Given the description of an element on the screen output the (x, y) to click on. 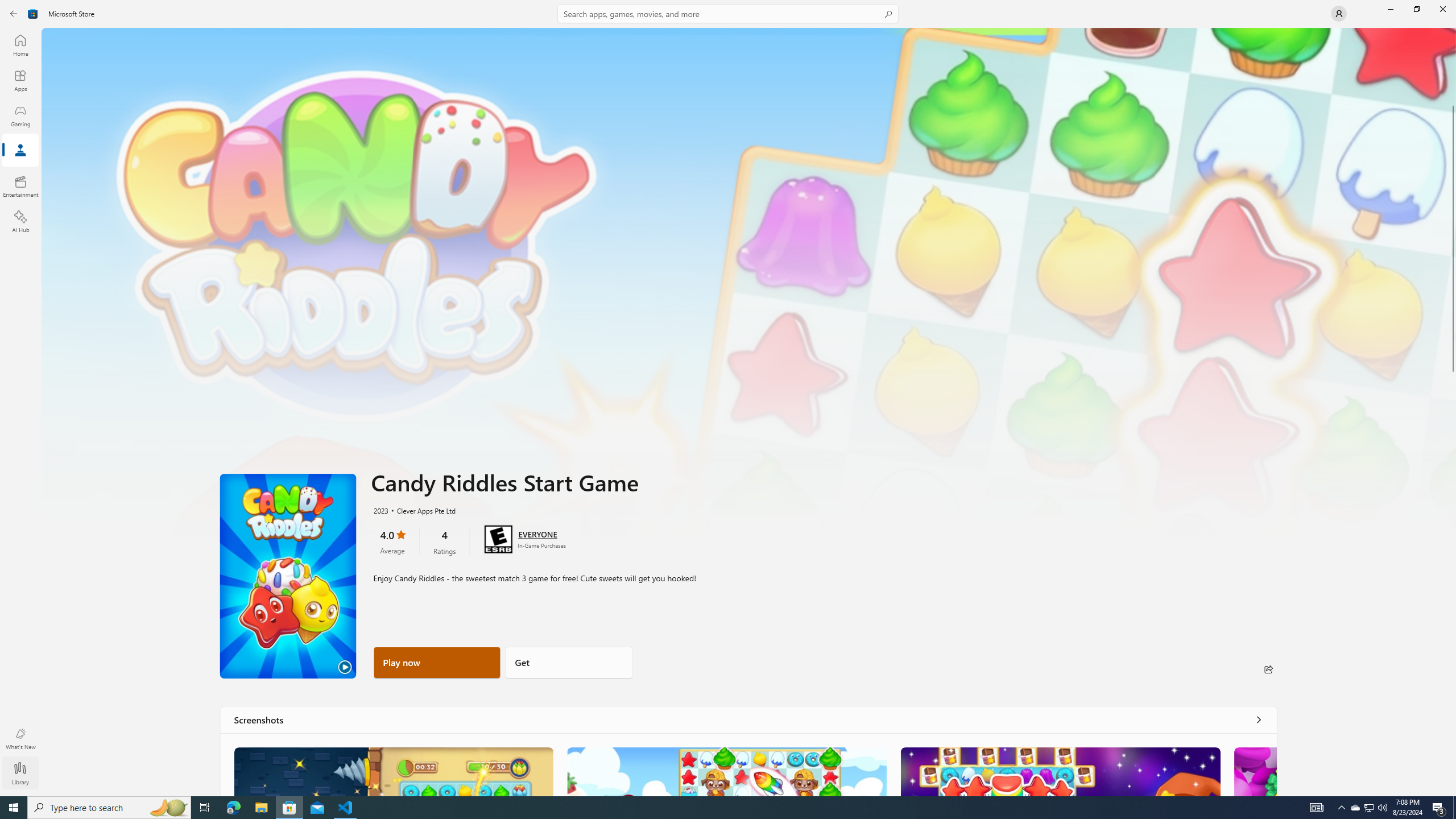
Library (20, 768)
Games (151, 155)
AutomationID: NavigationControl (728, 398)
Sort and filter (1417, 149)
Entertainment (20, 185)
Gaming (20, 115)
Apps (20, 80)
Get updates (1406, 88)
Close Microsoft Store (1442, 9)
What's New (20, 738)
Apps (90, 155)
Arcade (20, 186)
Search (727, 13)
Home (20, 45)
Vertical (1452, 412)
